Given the description of an element on the screen output the (x, y) to click on. 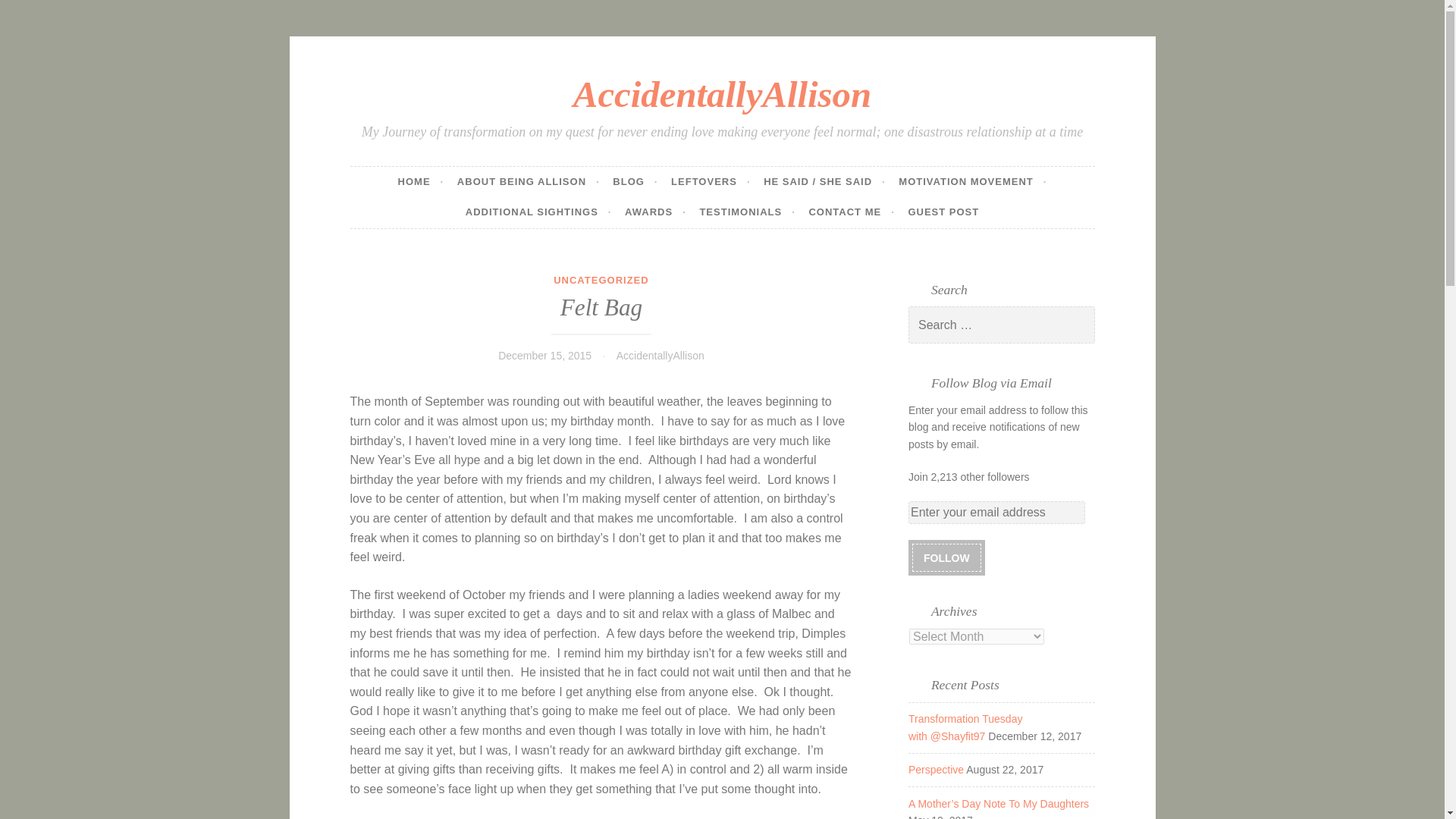
LEFTOVERS (710, 182)
AccidentallyAllison (659, 355)
ADDITIONAL SIGHTINGS (538, 212)
CONTACT ME (850, 212)
GUEST POST (942, 212)
ABOUT BEING ALLISON (528, 182)
BLOG (635, 182)
UNCATEGORIZED (600, 279)
TESTIMONIALS (746, 212)
Search (33, 13)
Perspective (935, 769)
MOTIVATION MOVEMENT (972, 182)
AWARDS (654, 212)
HOME (420, 182)
FOLLOW (946, 557)
